Given the description of an element on the screen output the (x, y) to click on. 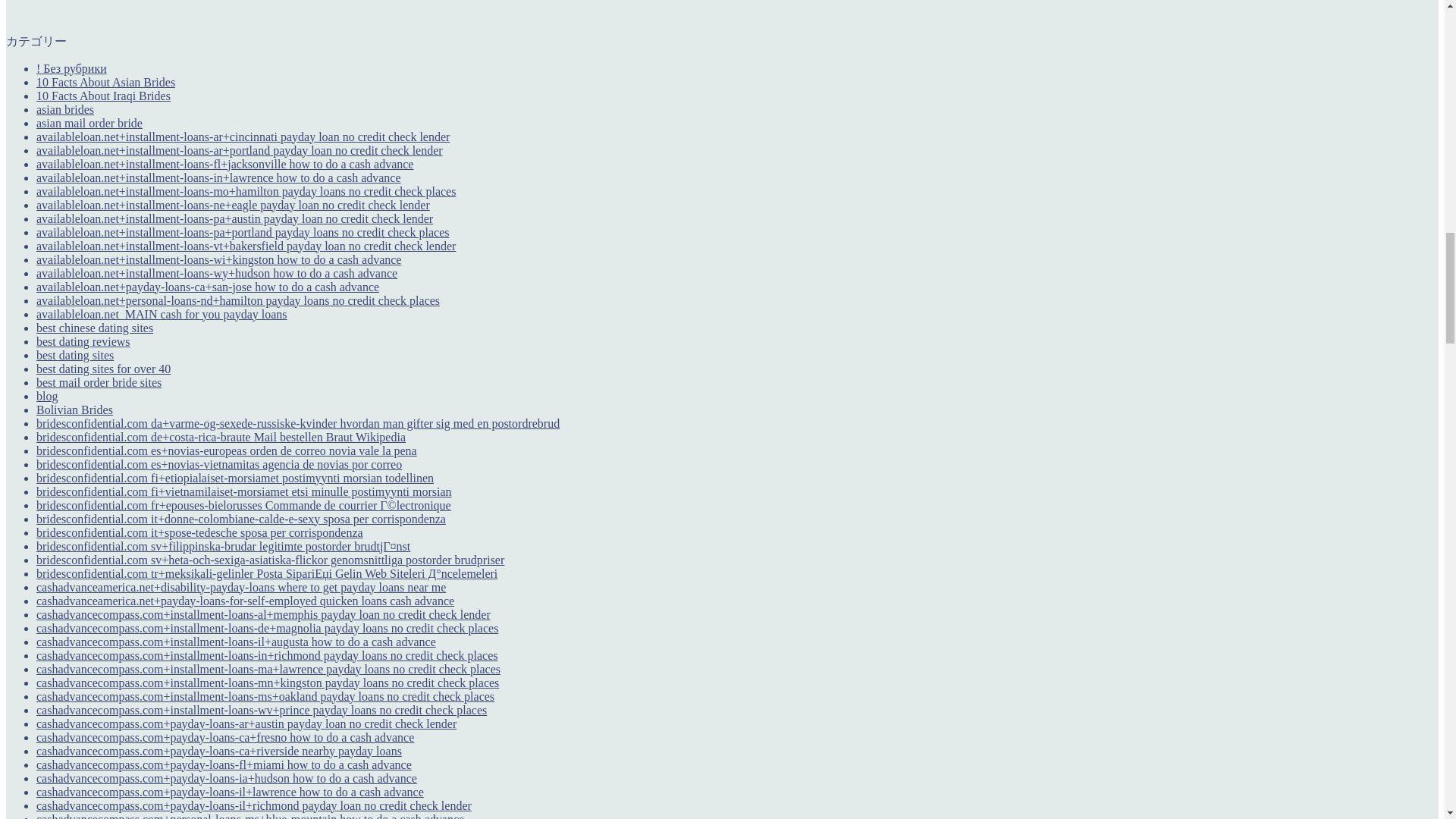
asian brides (65, 109)
10 Facts About Iraqi Brides (103, 95)
10 Facts About Asian Brides (105, 82)
asian mail order bride (89, 123)
